Given the description of an element on the screen output the (x, y) to click on. 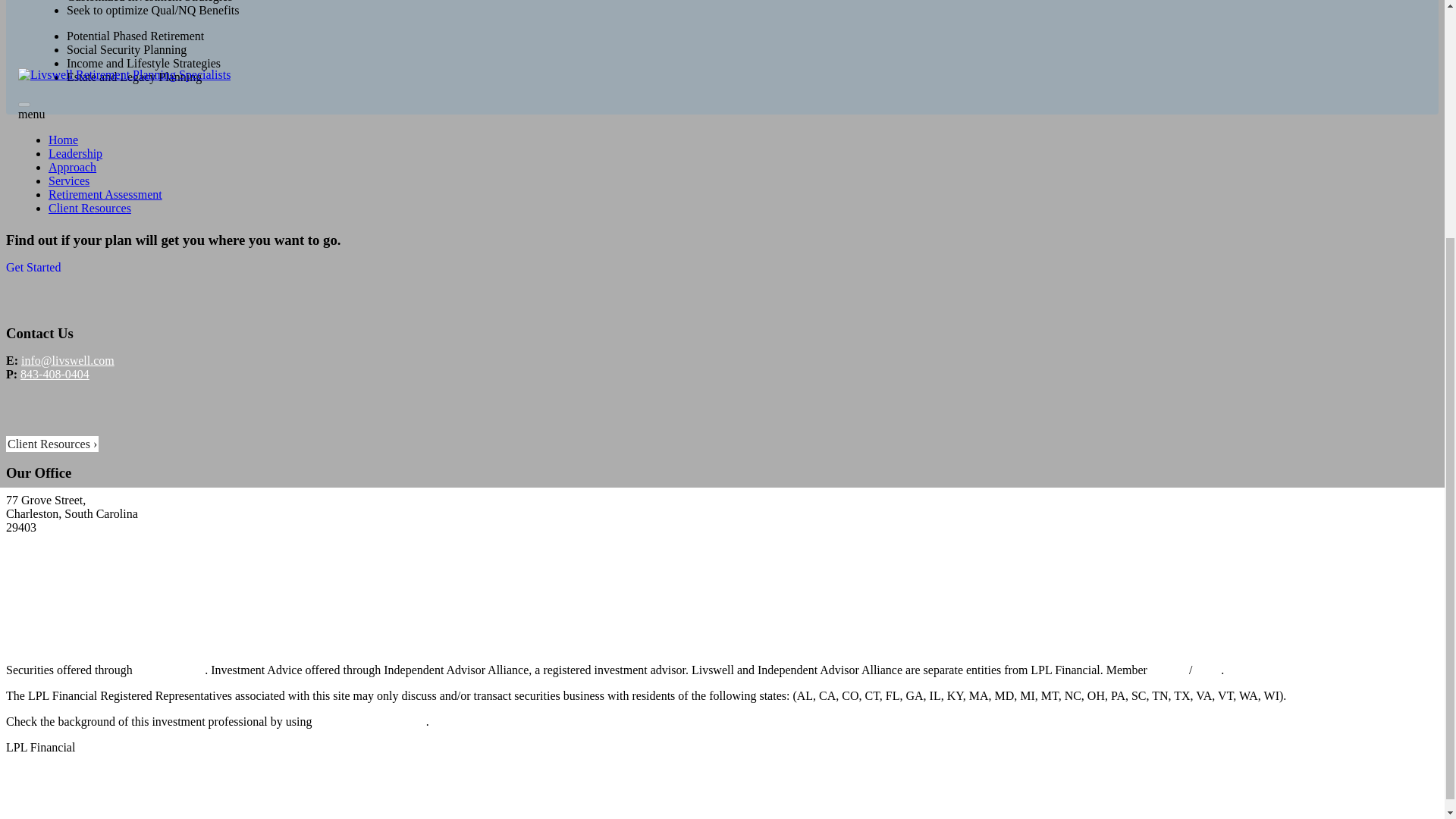
FINRA (1168, 679)
Client Resources (52, 446)
843-408-0404 (54, 387)
Form CRS (104, 755)
Get Started With the Retirement Assessment (33, 269)
SIPC (1208, 678)
LPL Financial (170, 680)
Get Started (33, 282)
